Given the description of an element on the screen output the (x, y) to click on. 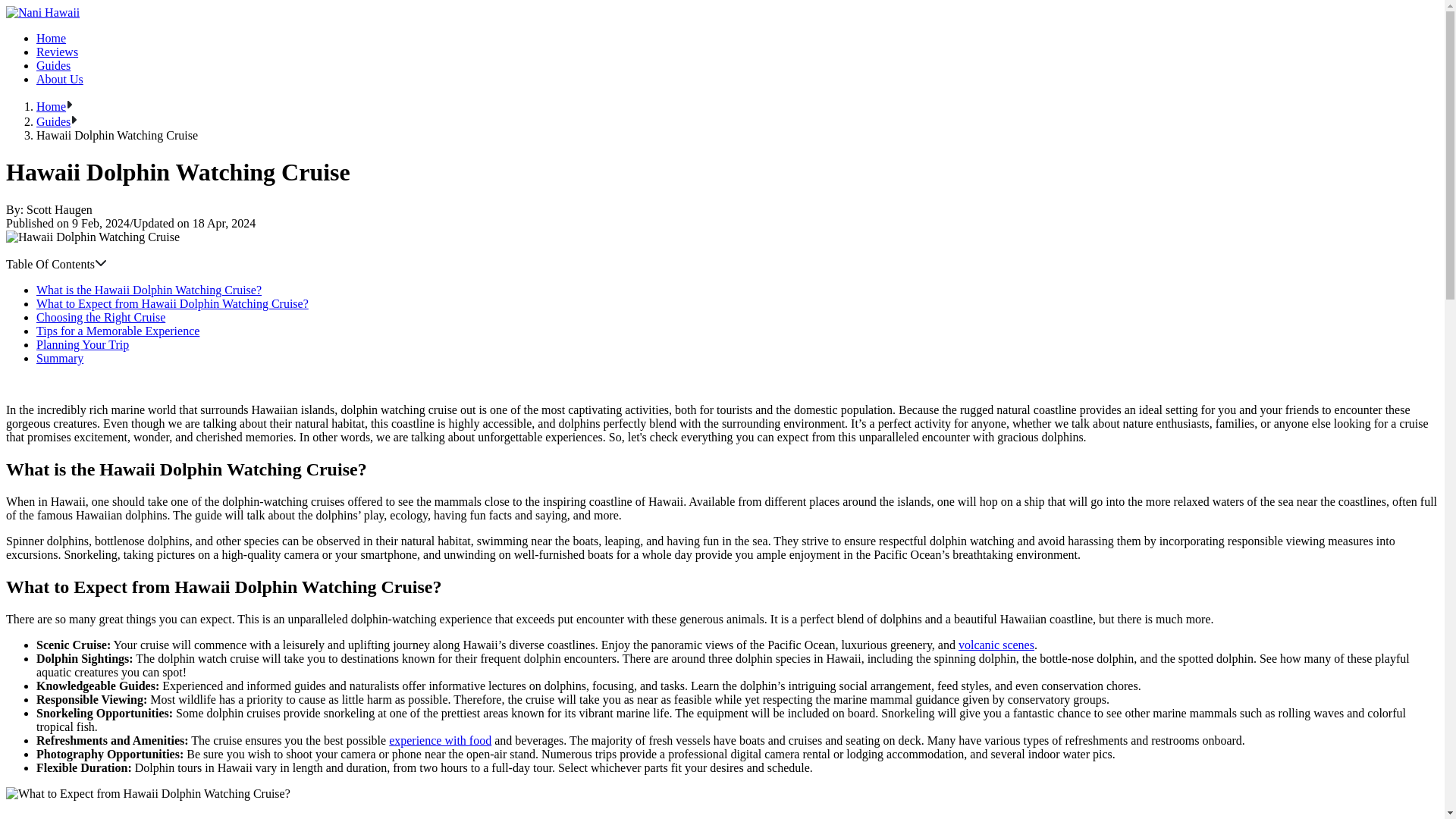
Summary (59, 358)
Guides (52, 65)
Home (50, 38)
About Us (59, 78)
Reviews (57, 51)
experience with food (440, 739)
Choosing the Right Cruise (100, 317)
Reviews (57, 51)
Nani Hawaii (42, 11)
volcanic scenes (995, 644)
Guides (52, 65)
Tips for a Memorable Experience (117, 330)
What is the Hawaii Dolphin Watching Cruise? (149, 289)
Guides (52, 121)
About Us (59, 78)
